Given the description of an element on the screen output the (x, y) to click on. 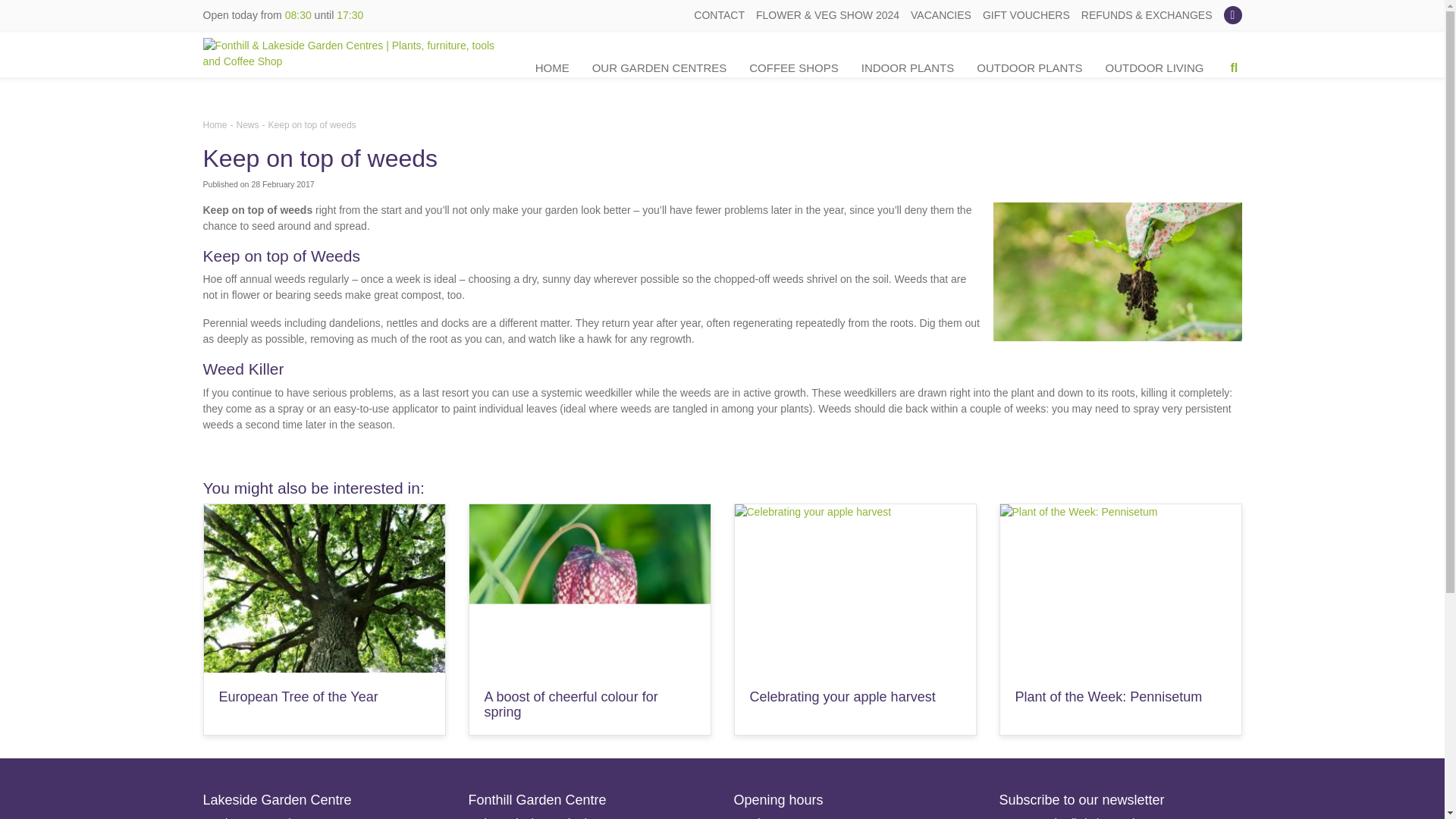
CONTACT (719, 14)
Outdoor Living (1154, 68)
Our Garden Centres (659, 68)
Celebrating your apple harvest (841, 696)
INDOOR PLANTS (908, 68)
src (1234, 68)
News (247, 124)
Indoor Plants (908, 68)
Contact (719, 14)
Home (552, 68)
Vacancies (941, 14)
A boost of cheerful colour for spring (570, 704)
European Tree of the Year (297, 696)
Search (1227, 75)
FB (1232, 14)
